Given the description of an element on the screen output the (x, y) to click on. 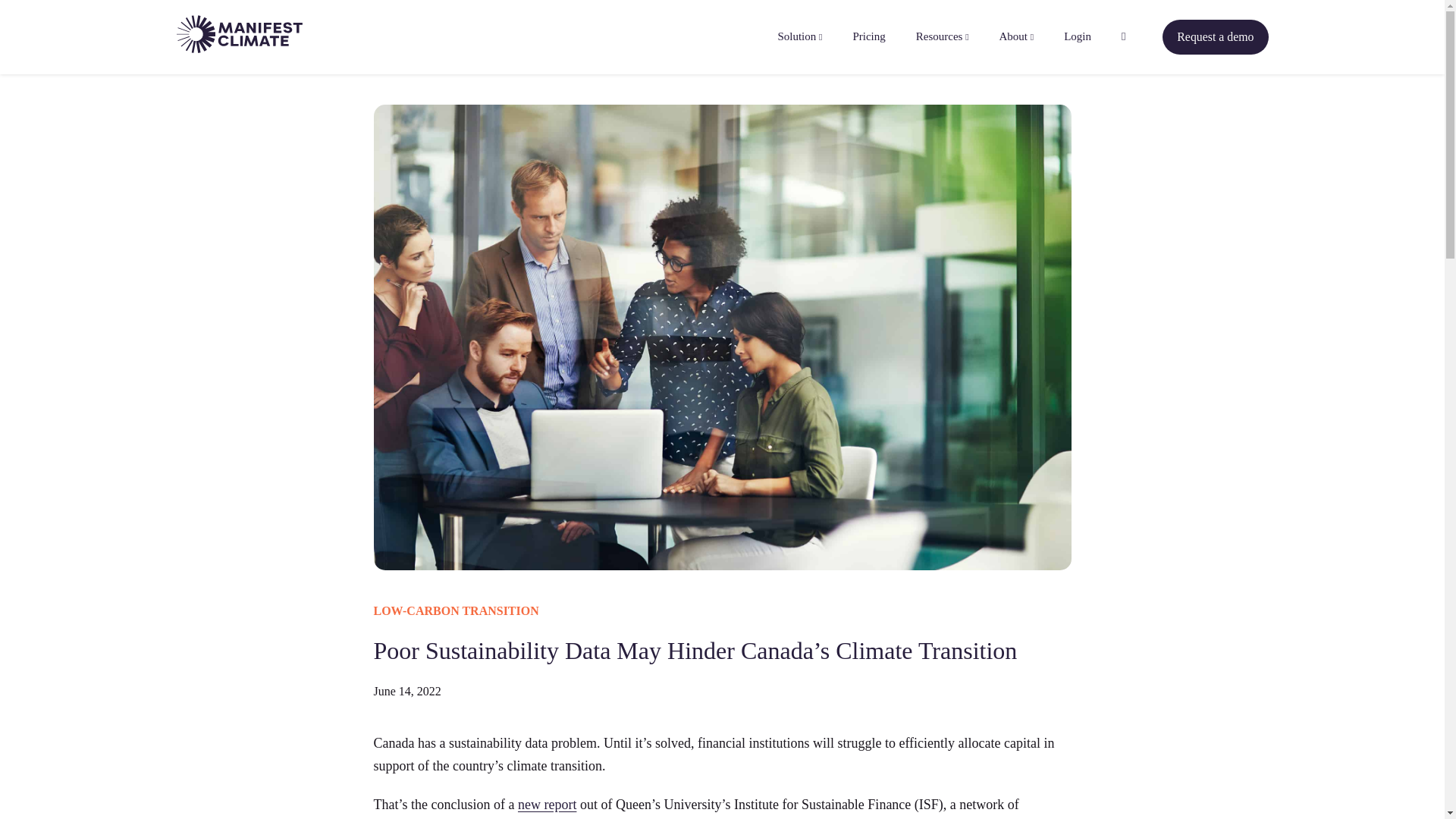
About (1016, 36)
Resources (942, 36)
Search Toggle (1123, 36)
Pricing (868, 36)
Login (1077, 36)
Solution (799, 36)
Request a demo (1214, 36)
